Given the description of an element on the screen output the (x, y) to click on. 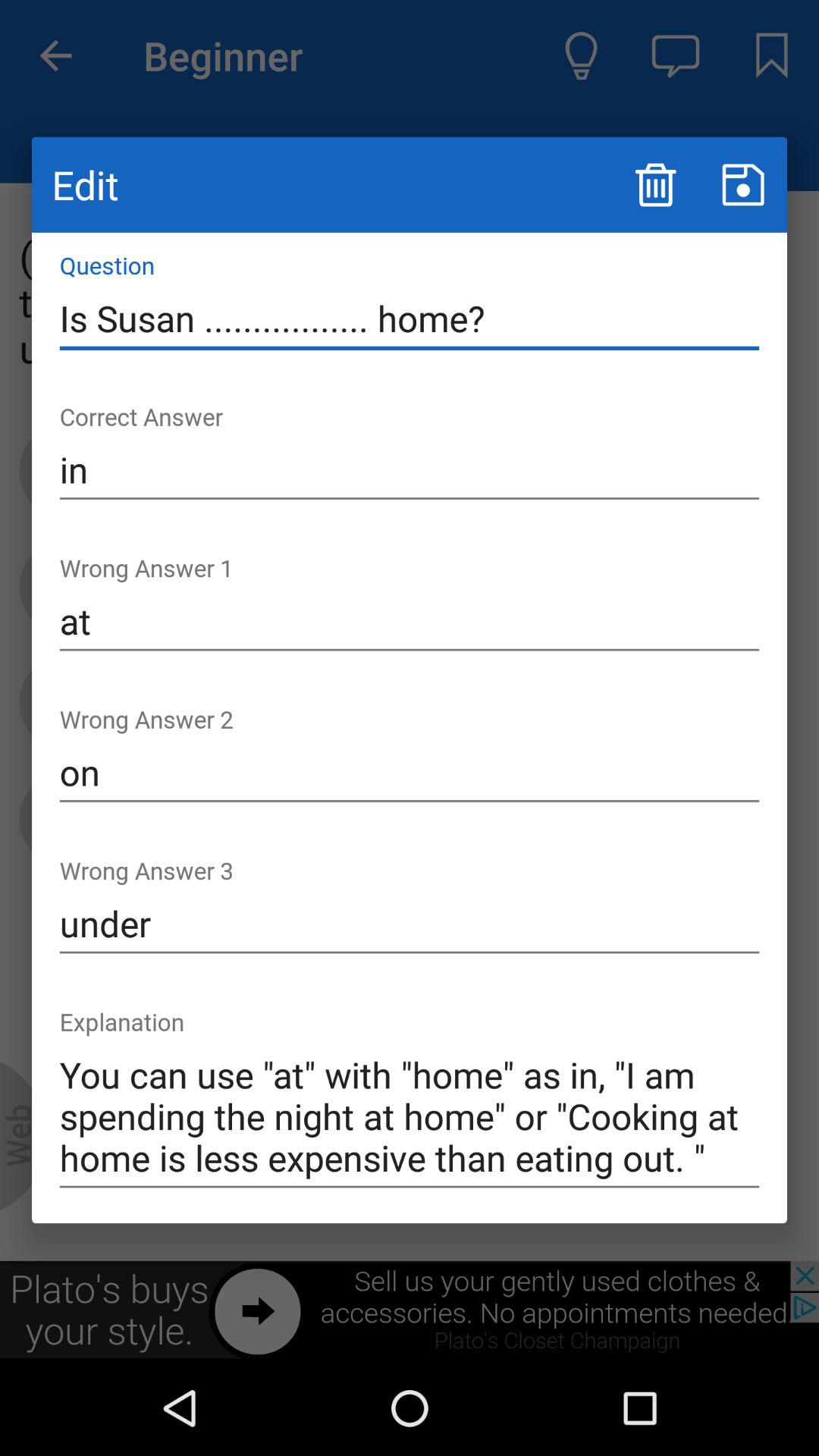
delete form (655, 184)
